Given the description of an element on the screen output the (x, y) to click on. 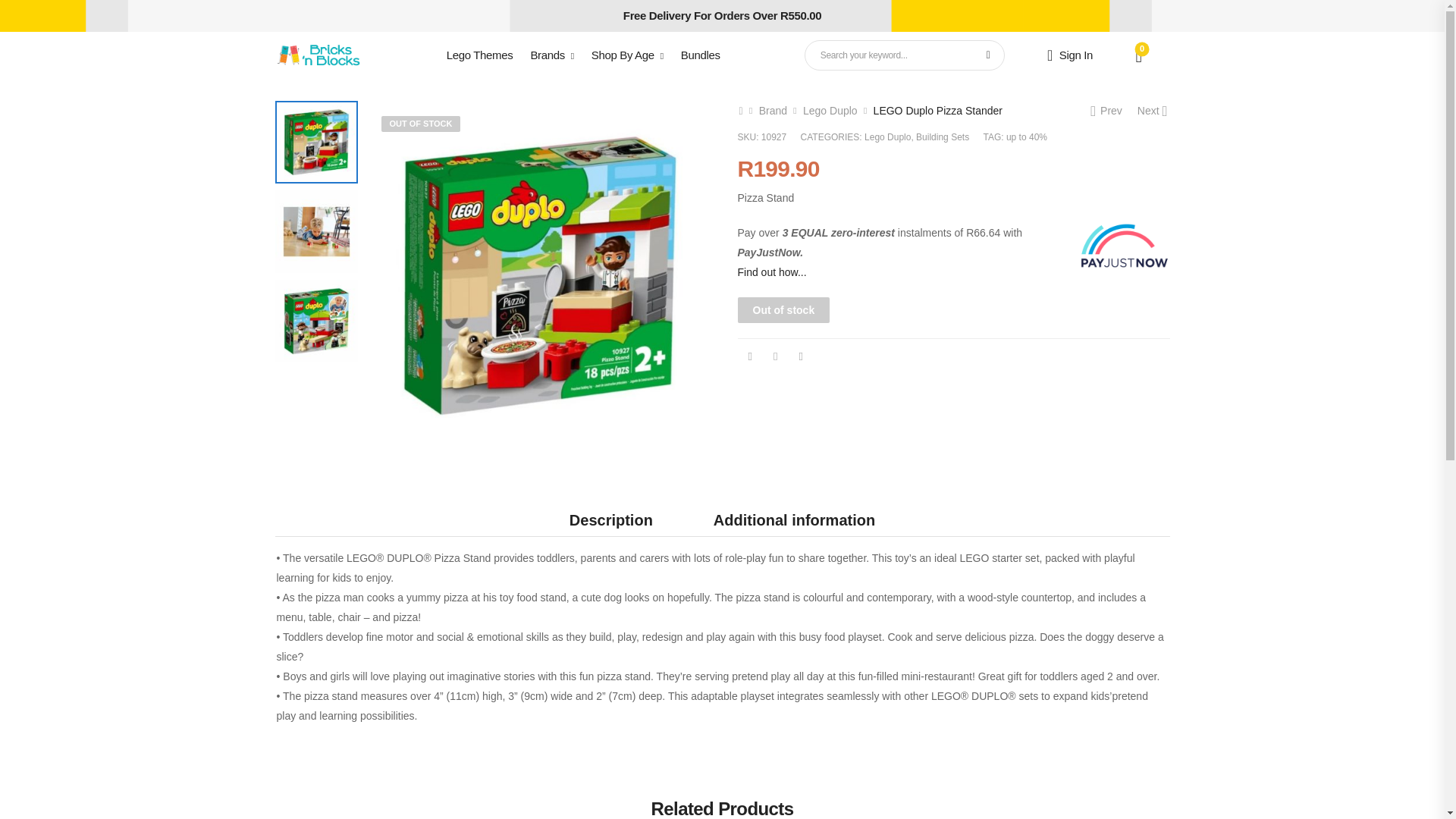
Find out how... (771, 272)
Lego Duplo (830, 110)
Out-of-Stock Product (420, 123)
Lego Themes (479, 54)
LG10927-3-e1634895817585.jpg (539, 275)
Lego Duplo (887, 136)
Sign In (1069, 55)
Shop By Age (627, 54)
Brands (551, 54)
Next (1153, 110)
